Given the description of an element on the screen output the (x, y) to click on. 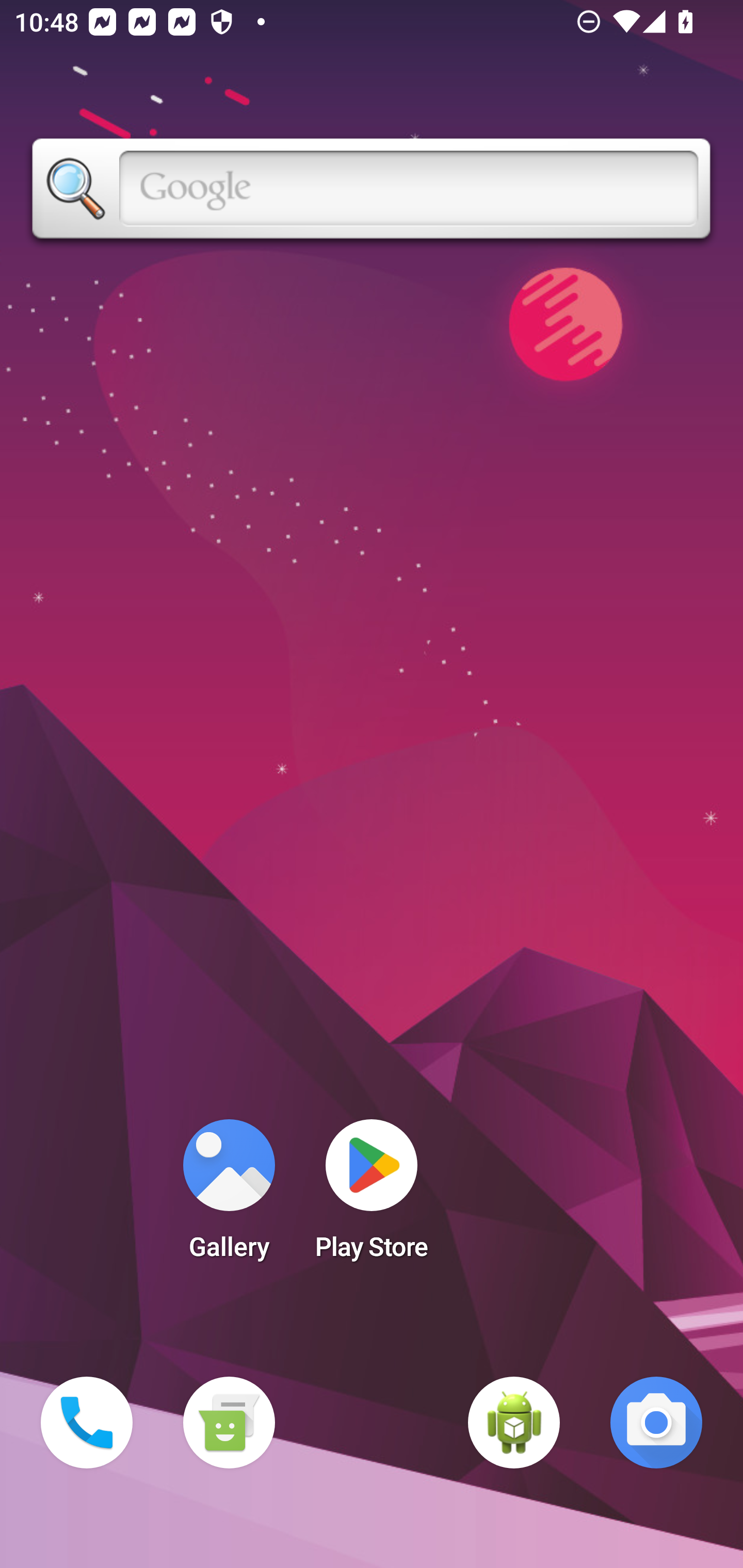
Gallery (228, 1195)
Play Store (371, 1195)
Phone (86, 1422)
Messaging (228, 1422)
WebView Browser Tester (513, 1422)
Camera (656, 1422)
